Given the description of an element on the screen output the (x, y) to click on. 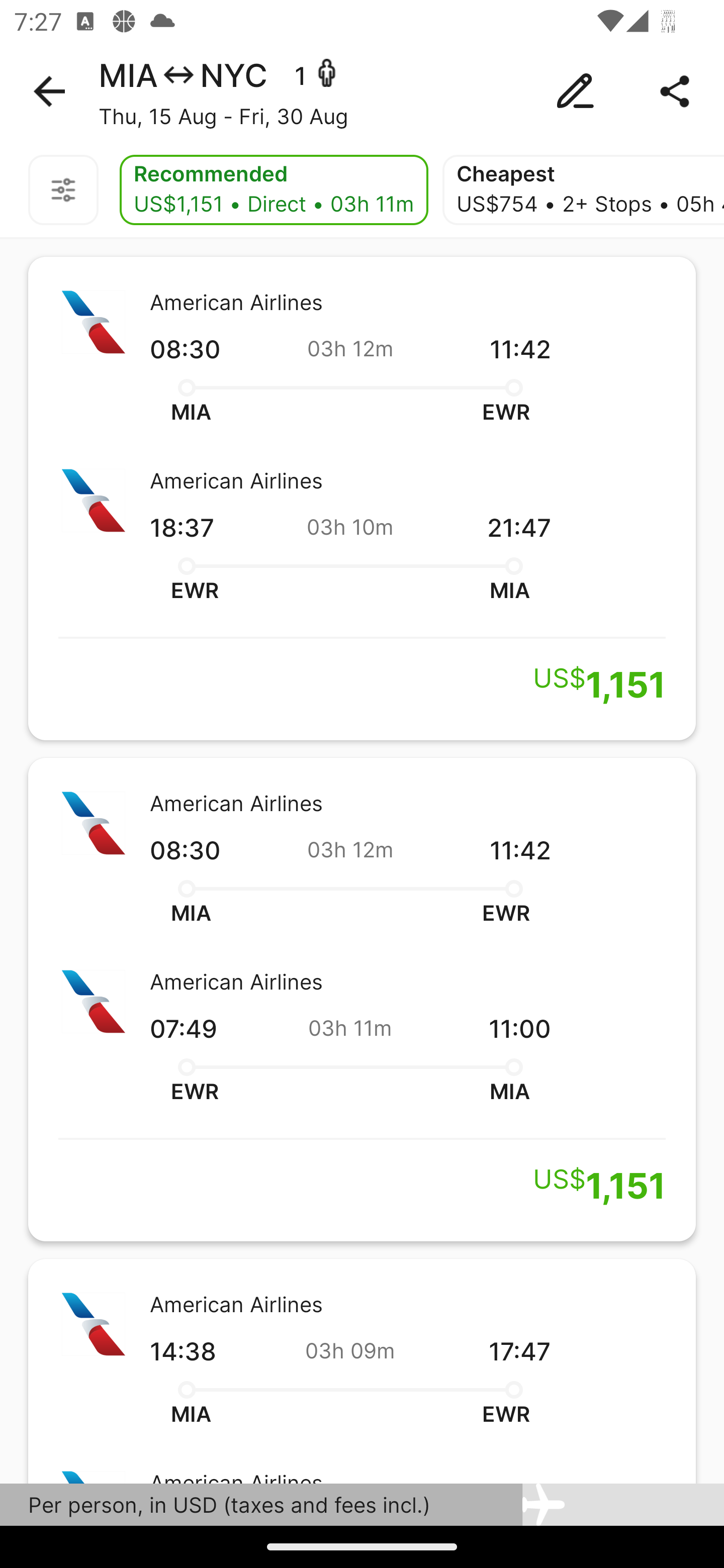
MIA NYC   1 - Thu, 15 Aug - Fri, 30 Aug (361, 91)
Recommended  US$1,151 • Direct • 03h 11m (273, 190)
Cheapest US$754 • 2+ Stops • 05h 48m (583, 190)
